Given the description of an element on the screen output the (x, y) to click on. 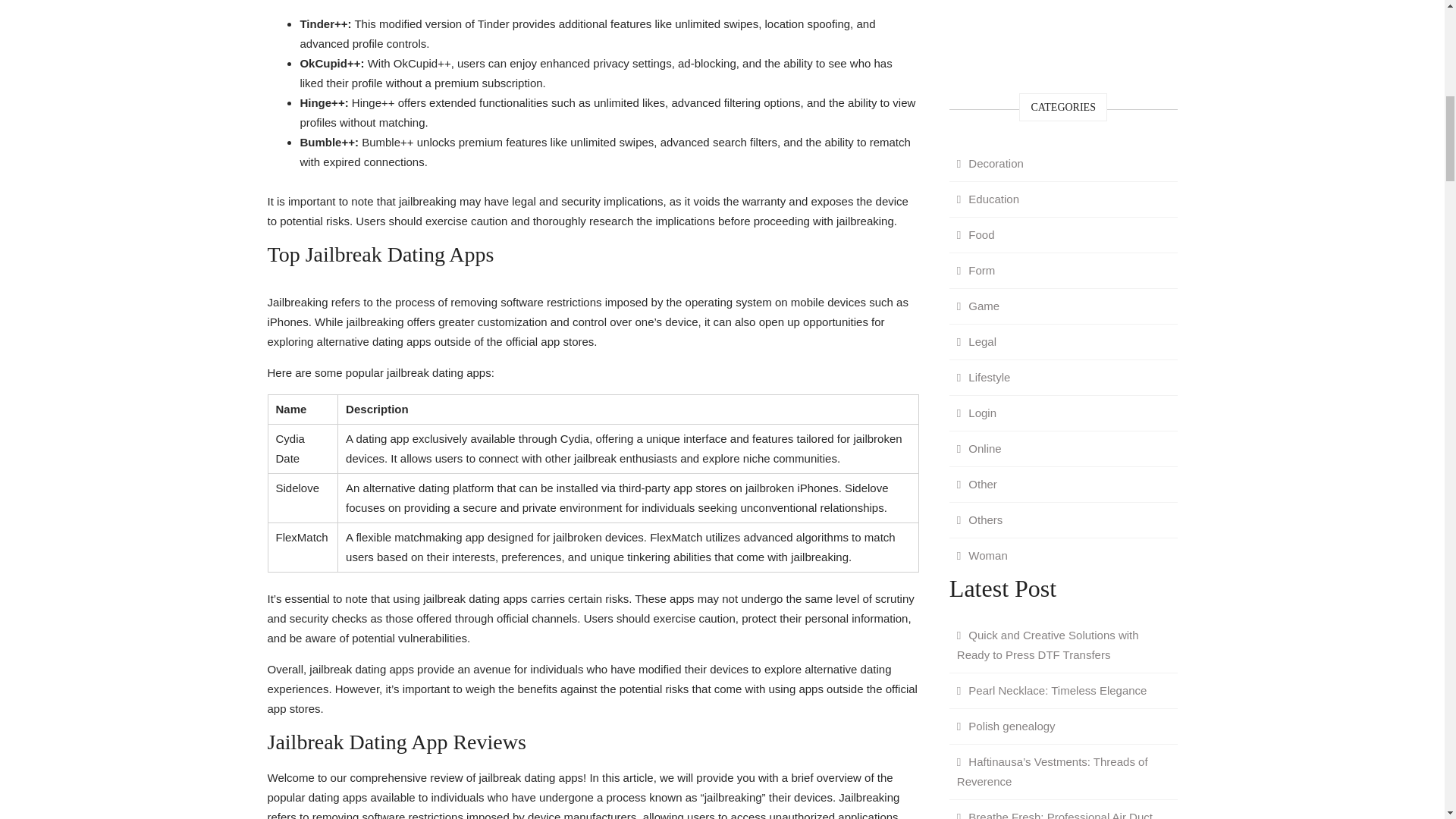
Game (978, 305)
Lifestyle (983, 376)
Education (987, 199)
Advertisement (1063, 33)
Form (976, 270)
Decoration (989, 162)
Legal (976, 341)
Food (976, 234)
